Given the description of an element on the screen output the (x, y) to click on. 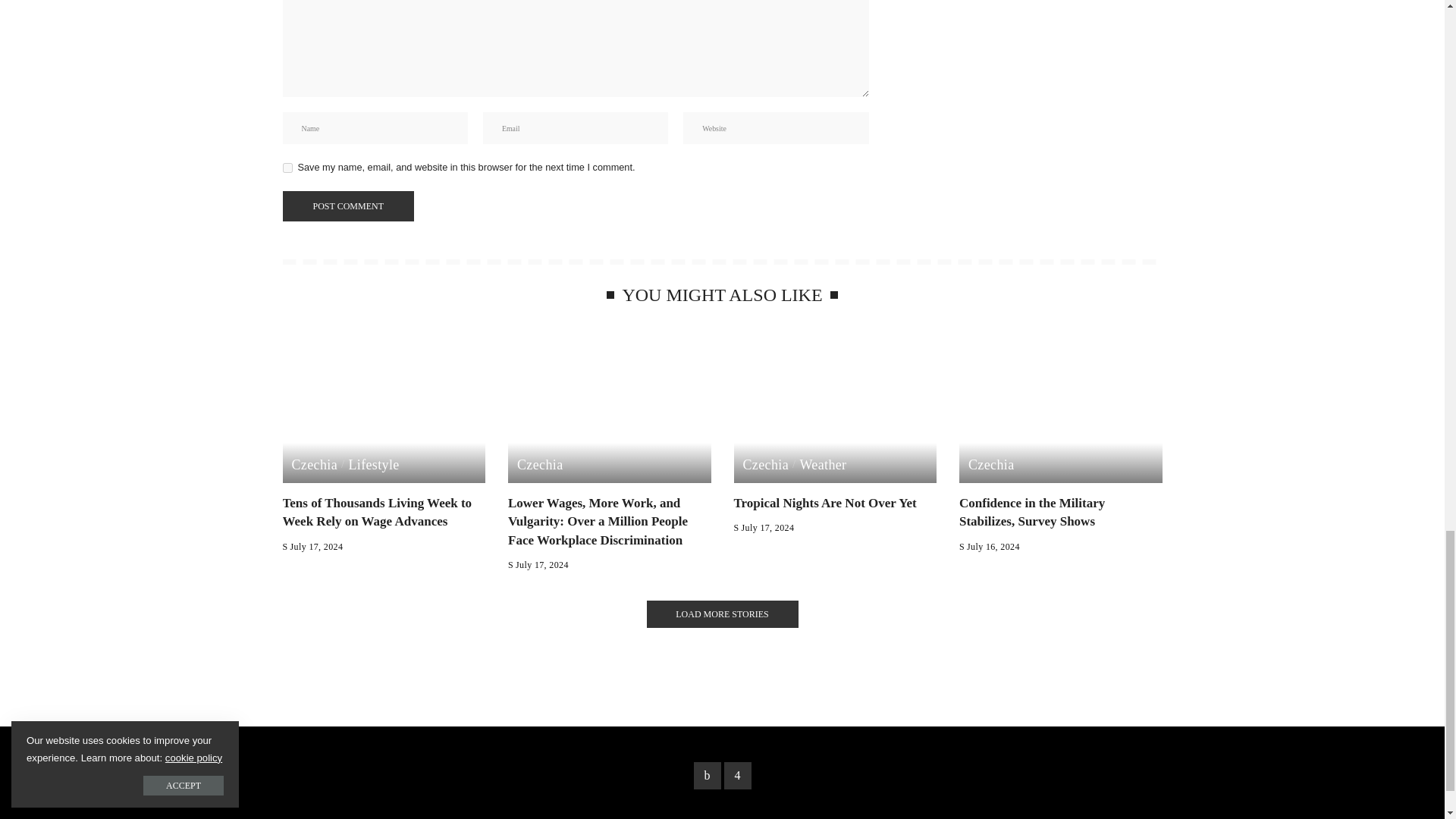
yes (287, 167)
Post Comment (347, 205)
